Given the description of an element on the screen output the (x, y) to click on. 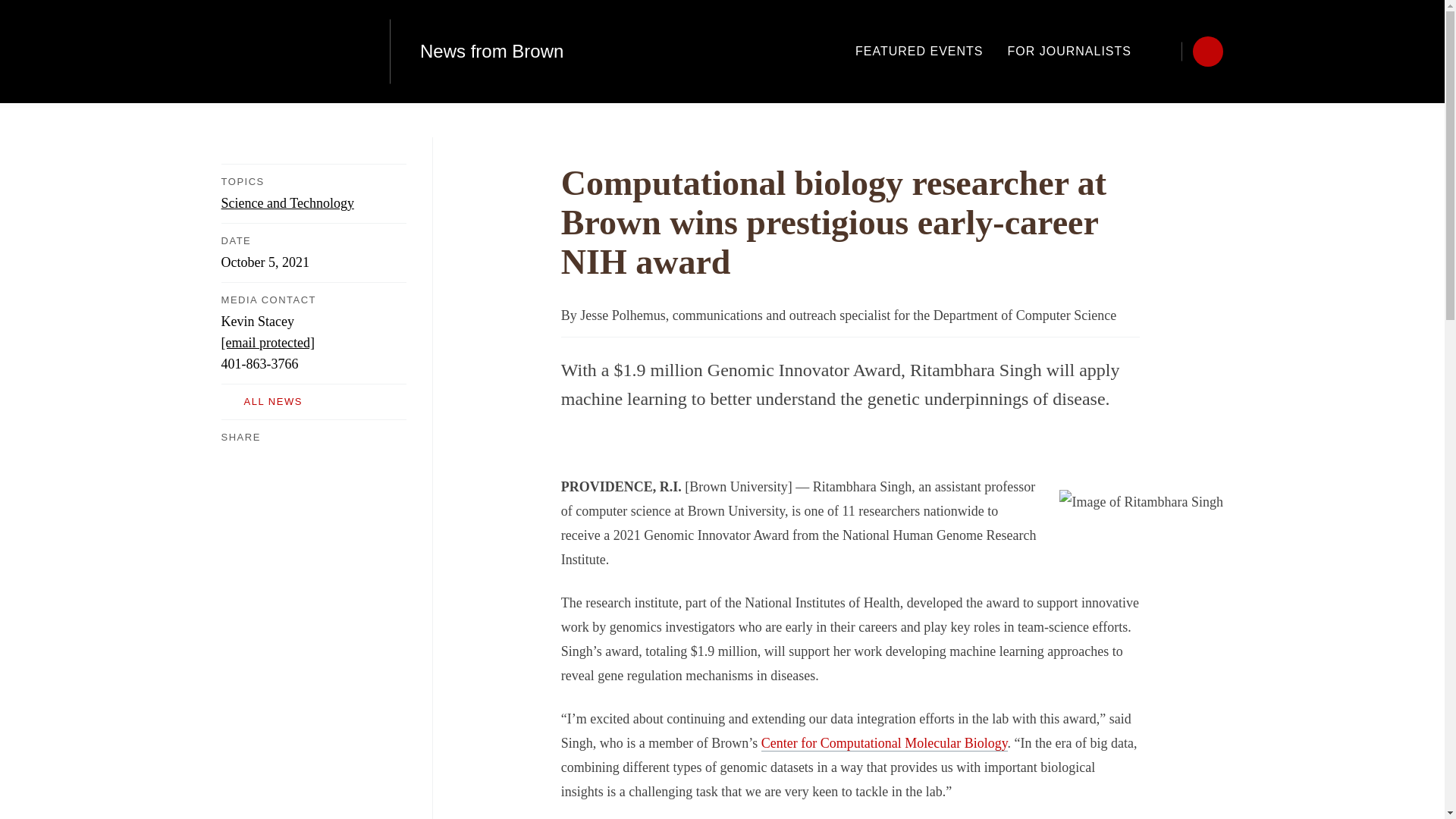
Facebook (229, 456)
News from Brown (491, 50)
Brown University (290, 51)
Search (1165, 51)
Email (318, 456)
Center for Computational Molecular Biology (884, 743)
Linkedin (290, 456)
Science and Technology (287, 202)
Menu (1207, 51)
401-863-3766 (259, 363)
